Given the description of an element on the screen output the (x, y) to click on. 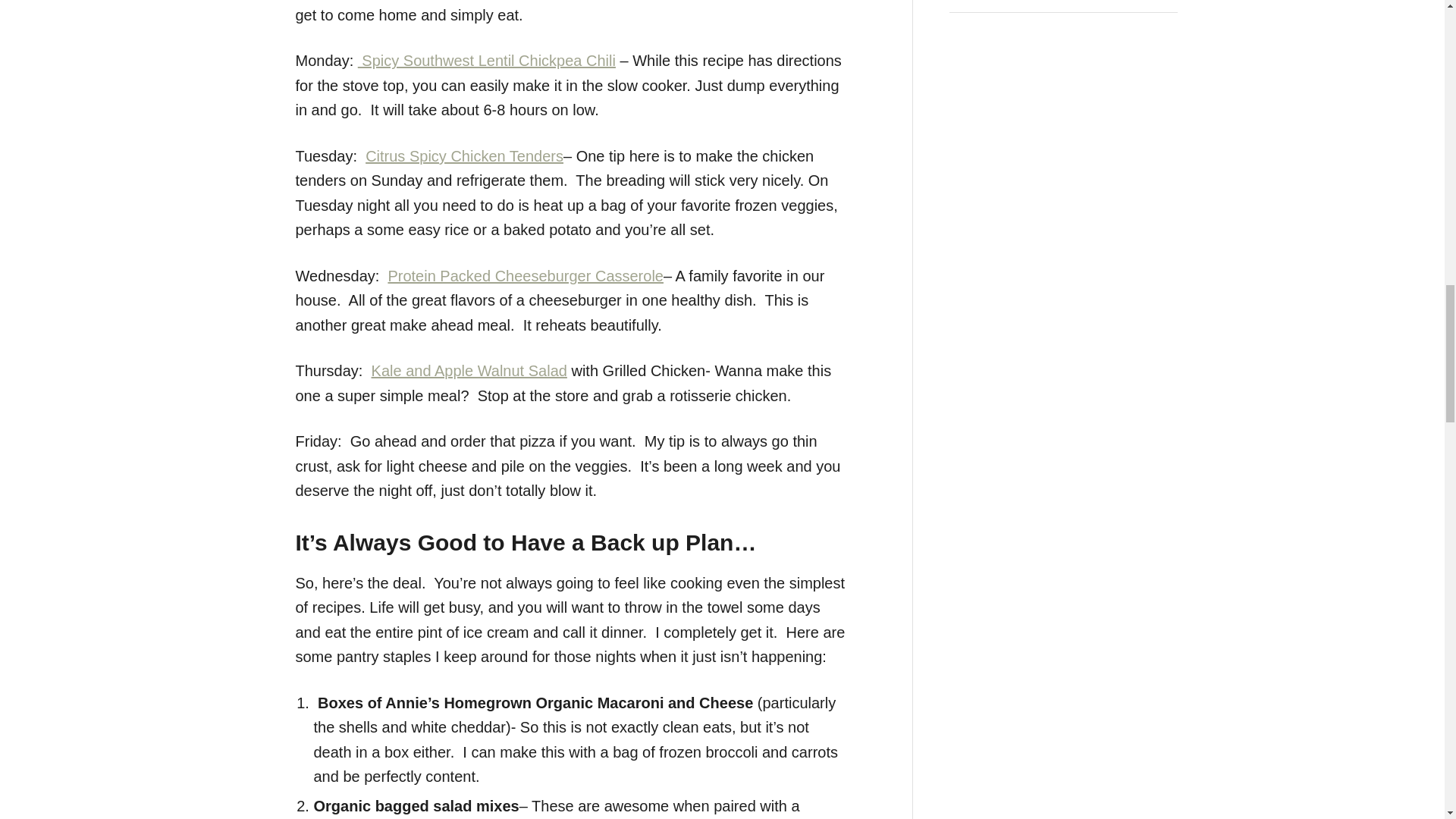
Protein Packed Cheeseburger Casserole (525, 275)
Citrus Spicy Chicken Tenders (464, 156)
Kale and Apple Walnut Salad (469, 370)
Spicy Southwest Lentil Chickpea Chili (486, 60)
